Given the description of an element on the screen output the (x, y) to click on. 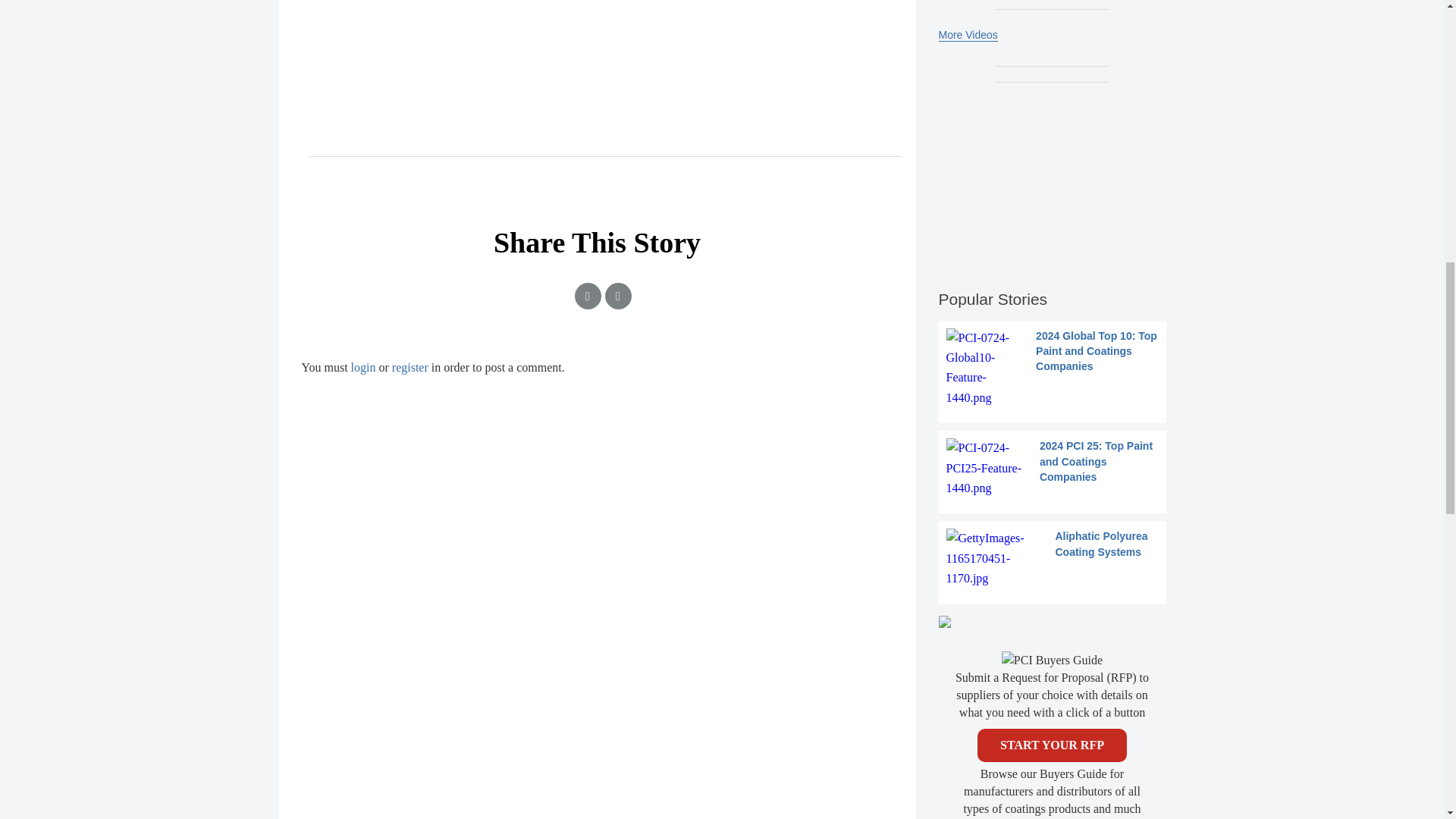
2024 Global Top 10: Top Paint and Coatings Companies (1052, 368)
2024 PCI 25: Top Paint and Coatings Companies (1052, 467)
Aliphatic Polyurea Coating Systems (1052, 558)
